Given the description of an element on the screen output the (x, y) to click on. 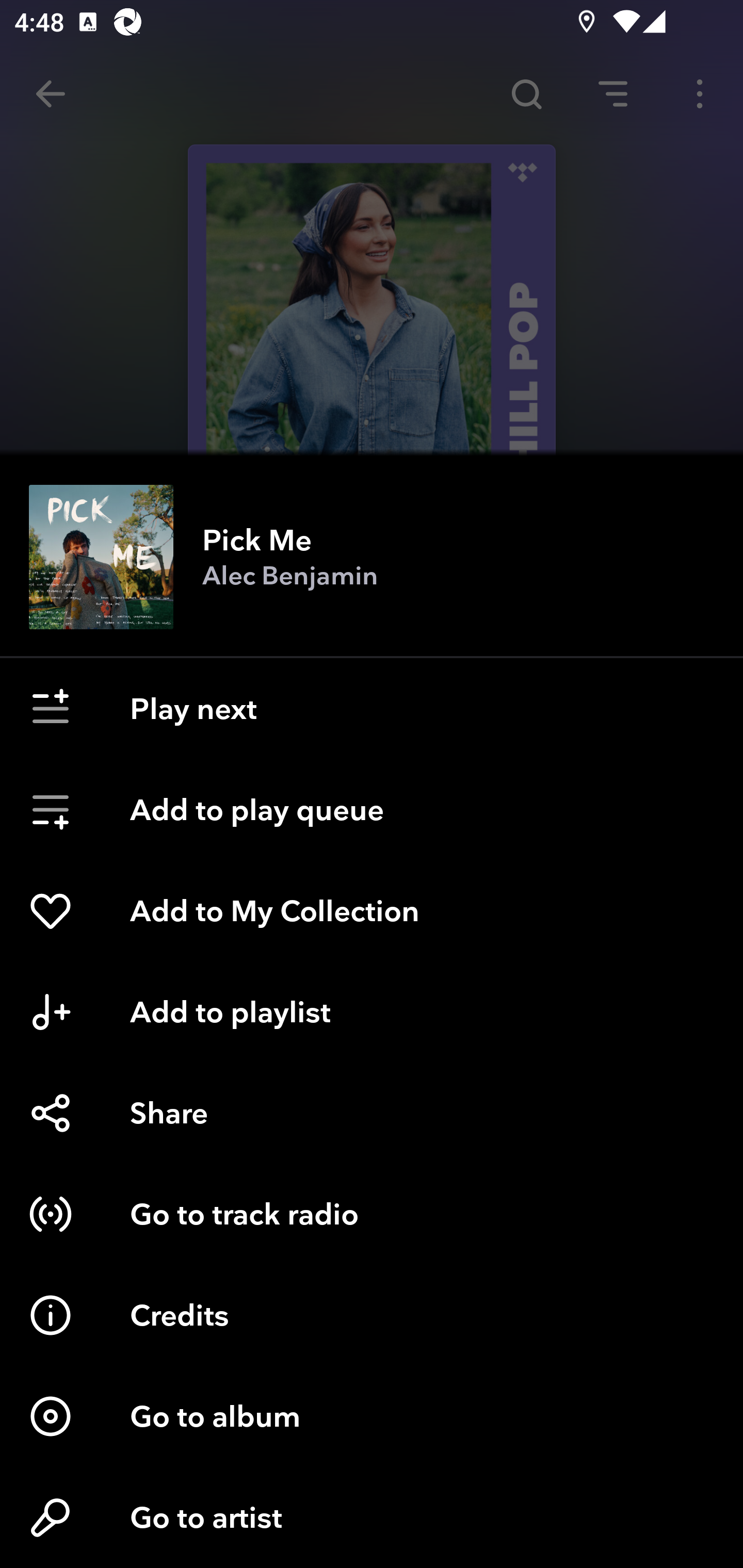
Play next (371, 708)
Add to play queue (371, 809)
Add to My Collection (371, 910)
Add to playlist (371, 1012)
Share (371, 1113)
Go to track radio (371, 1214)
Credits (371, 1315)
Go to album (371, 1416)
Go to artist (371, 1517)
